Given the description of an element on the screen output the (x, y) to click on. 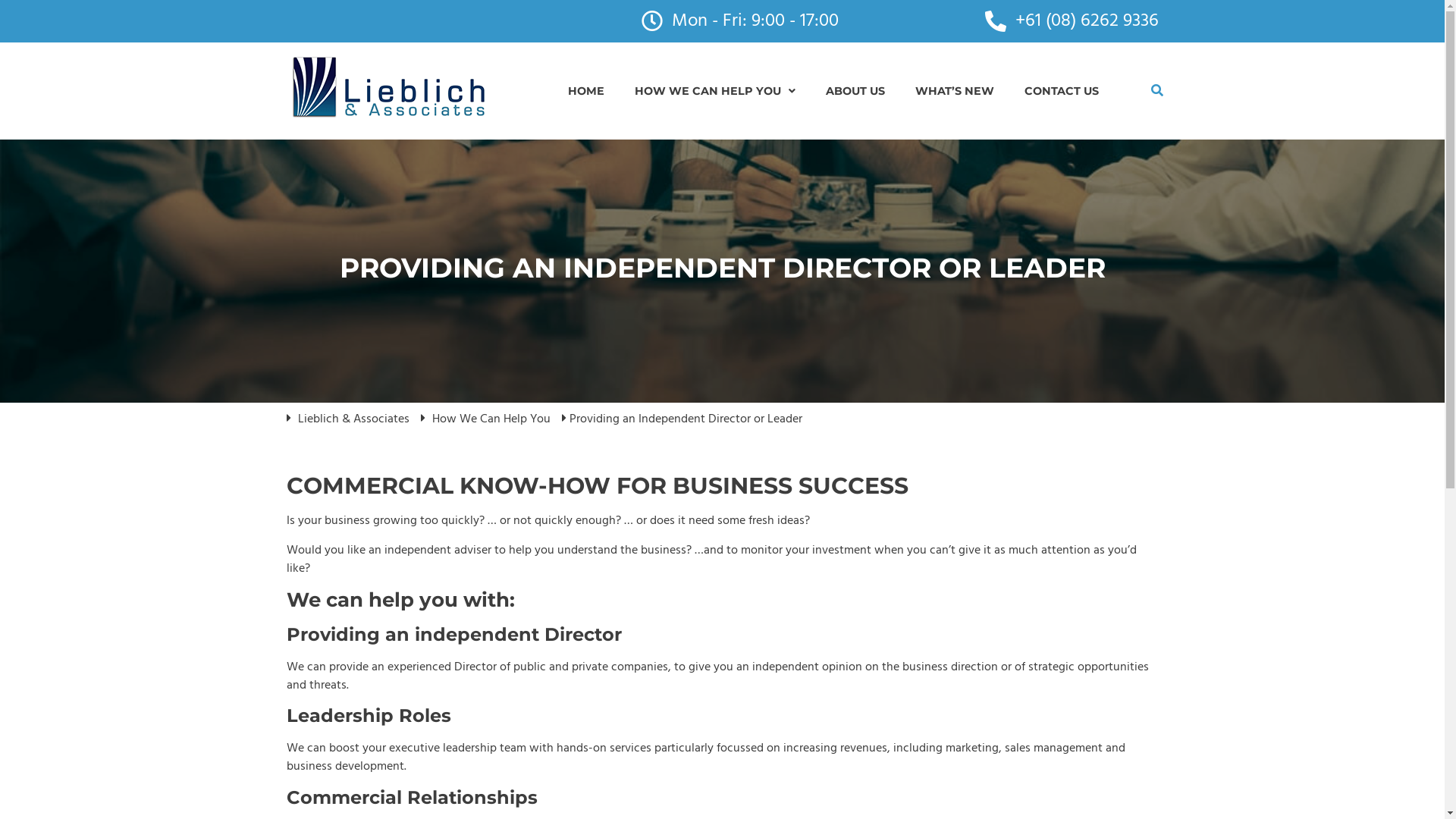
CONTACT US Element type: text (1061, 90)
How We Can Help You Element type: text (490, 419)
HOME Element type: text (585, 90)
+61 (08) 6262 9336 Element type: text (1070, 20)
Search Element type: text (1157, 90)
Lieblich & Associates Element type: text (353, 419)
HOW WE CAN HELP YOU Element type: text (714, 90)
ABOUT US Element type: text (855, 90)
